Given the description of an element on the screen output the (x, y) to click on. 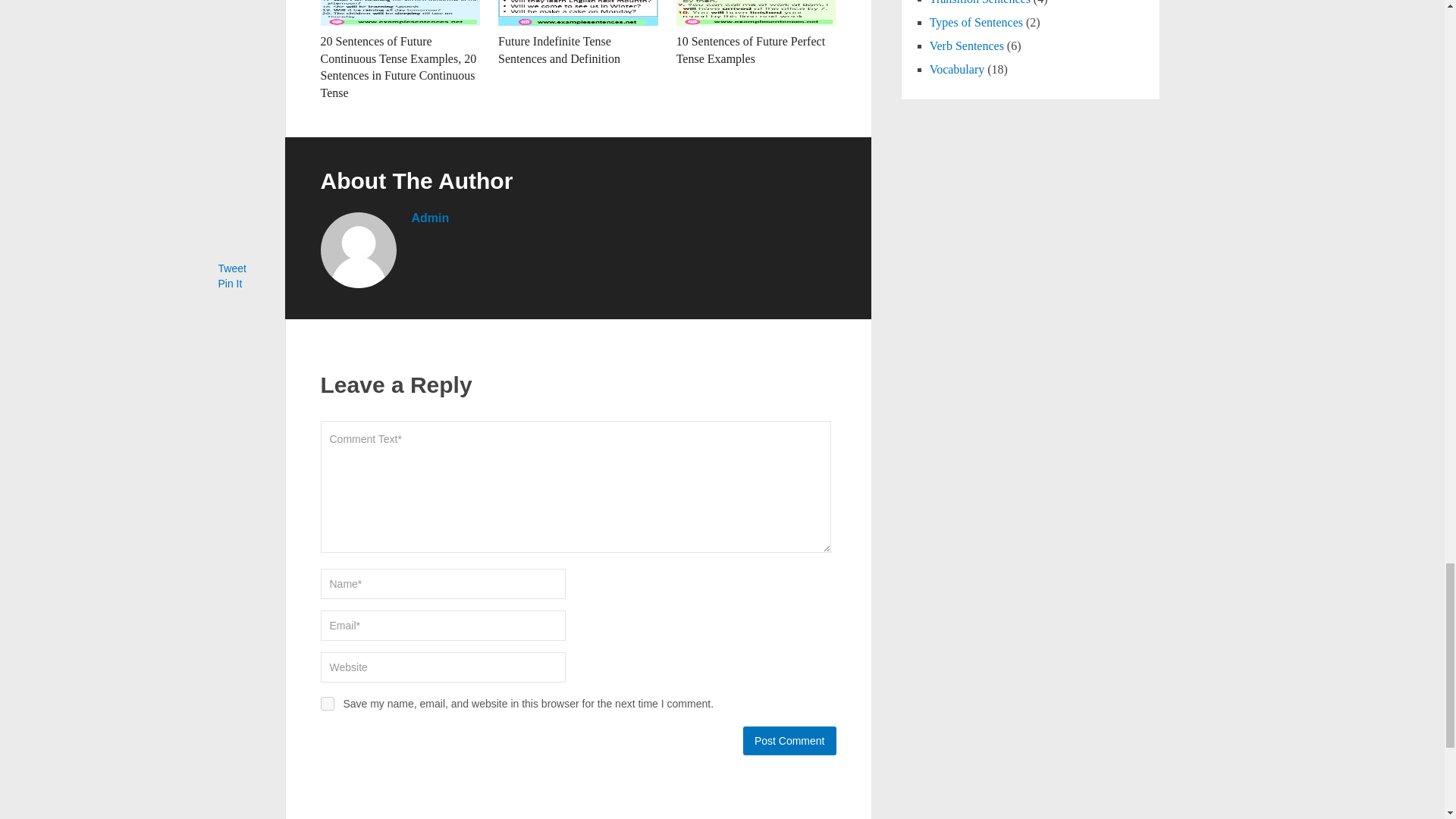
Post Comment (788, 740)
Future Indefinite Tense Sentences and Definition (577, 12)
10 Sentences of Future Perfect Tense Examples (756, 12)
yes (326, 703)
Future Indefinite Tense Sentences and Definition (558, 49)
10 Sentences of Future Perfect Tense Examples (751, 49)
